Given the description of an element on the screen output the (x, y) to click on. 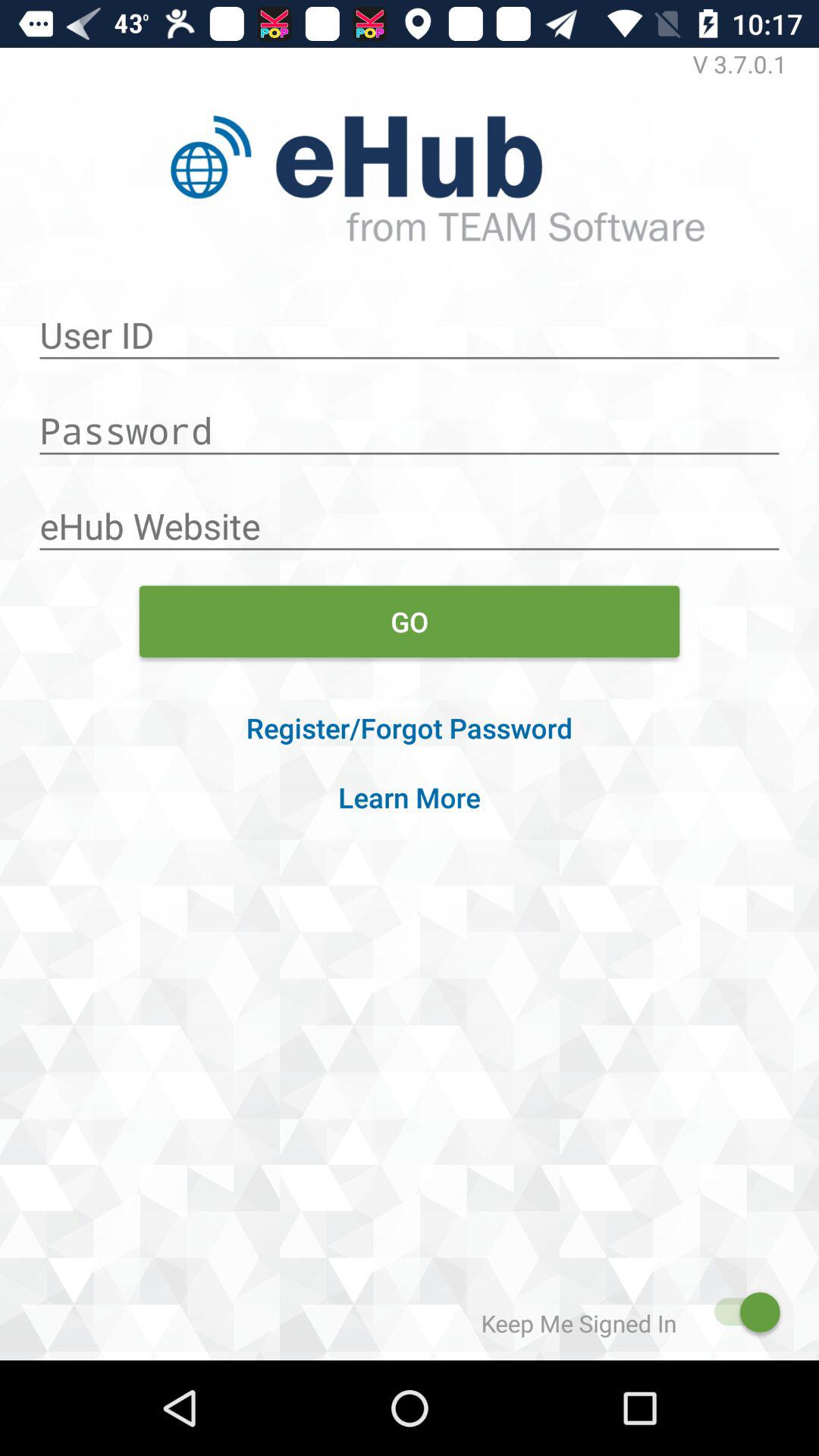
enter ehub website (409, 517)
